Given the description of an element on the screen output the (x, y) to click on. 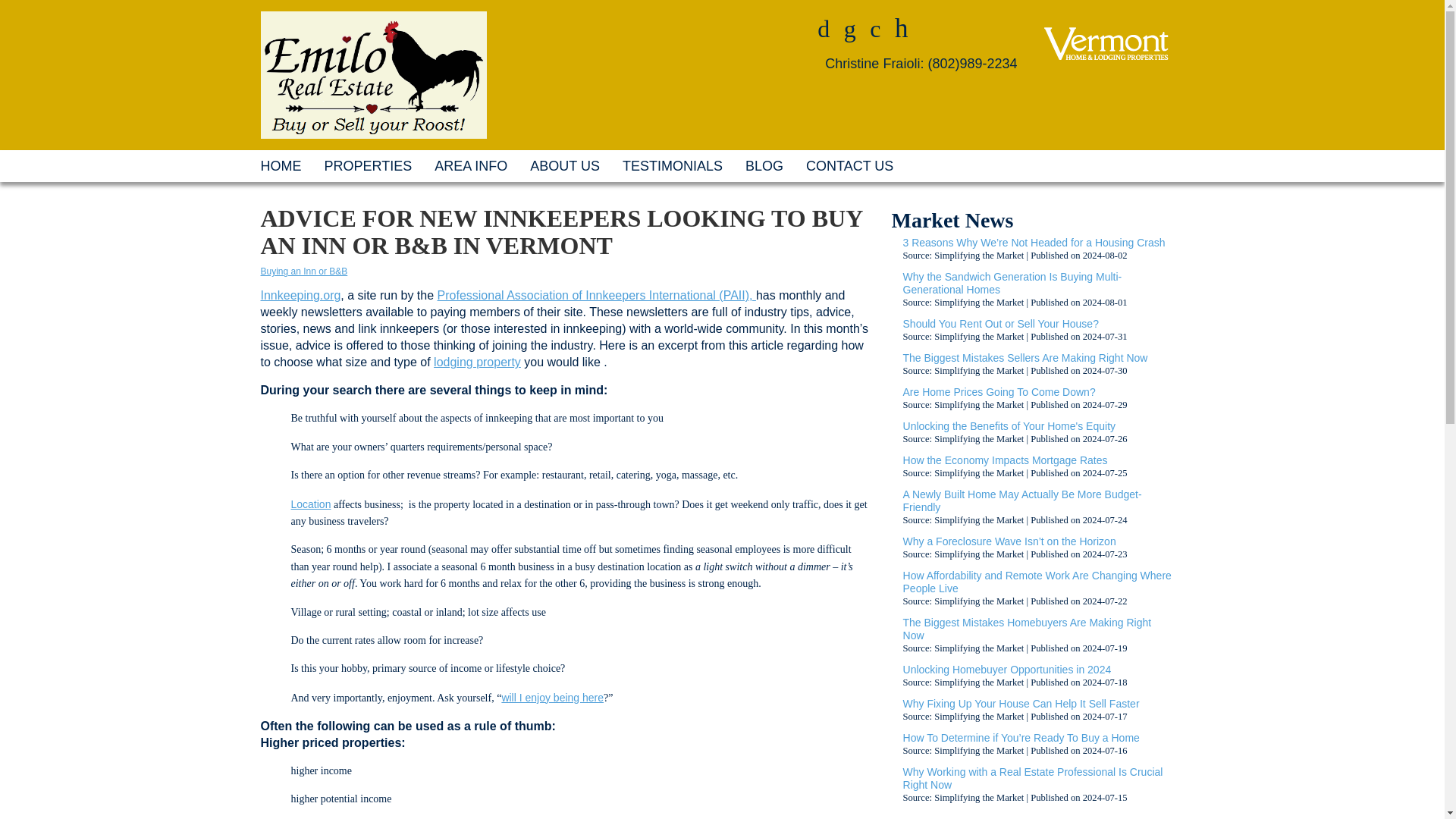
BLOG (763, 165)
HOME (280, 165)
TESTIMONIALS (672, 165)
ABOUT US (564, 165)
AREA INFO (470, 165)
lodging property (477, 361)
will I enjoy being here (552, 697)
PROPERTIES (368, 165)
Location (311, 503)
Innkeeping.org (300, 295)
CONTACT US (849, 165)
